Given the description of an element on the screen output the (x, y) to click on. 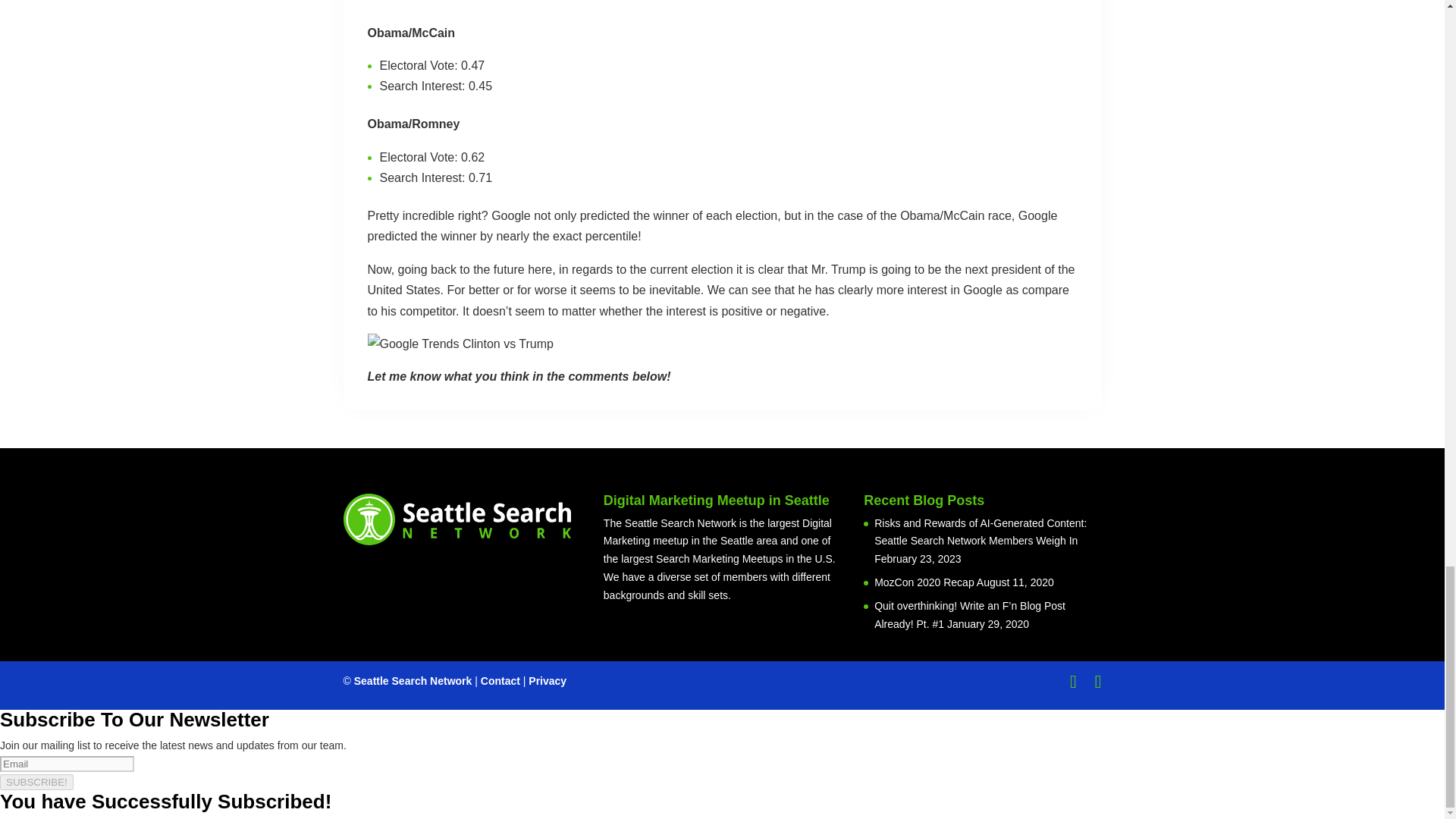
Contact (499, 680)
Seattle Search Network (412, 680)
MozCon 2020 Recap (924, 582)
Privacy (547, 680)
SUBSCRIBE! (37, 781)
